Given the description of an element on the screen output the (x, y) to click on. 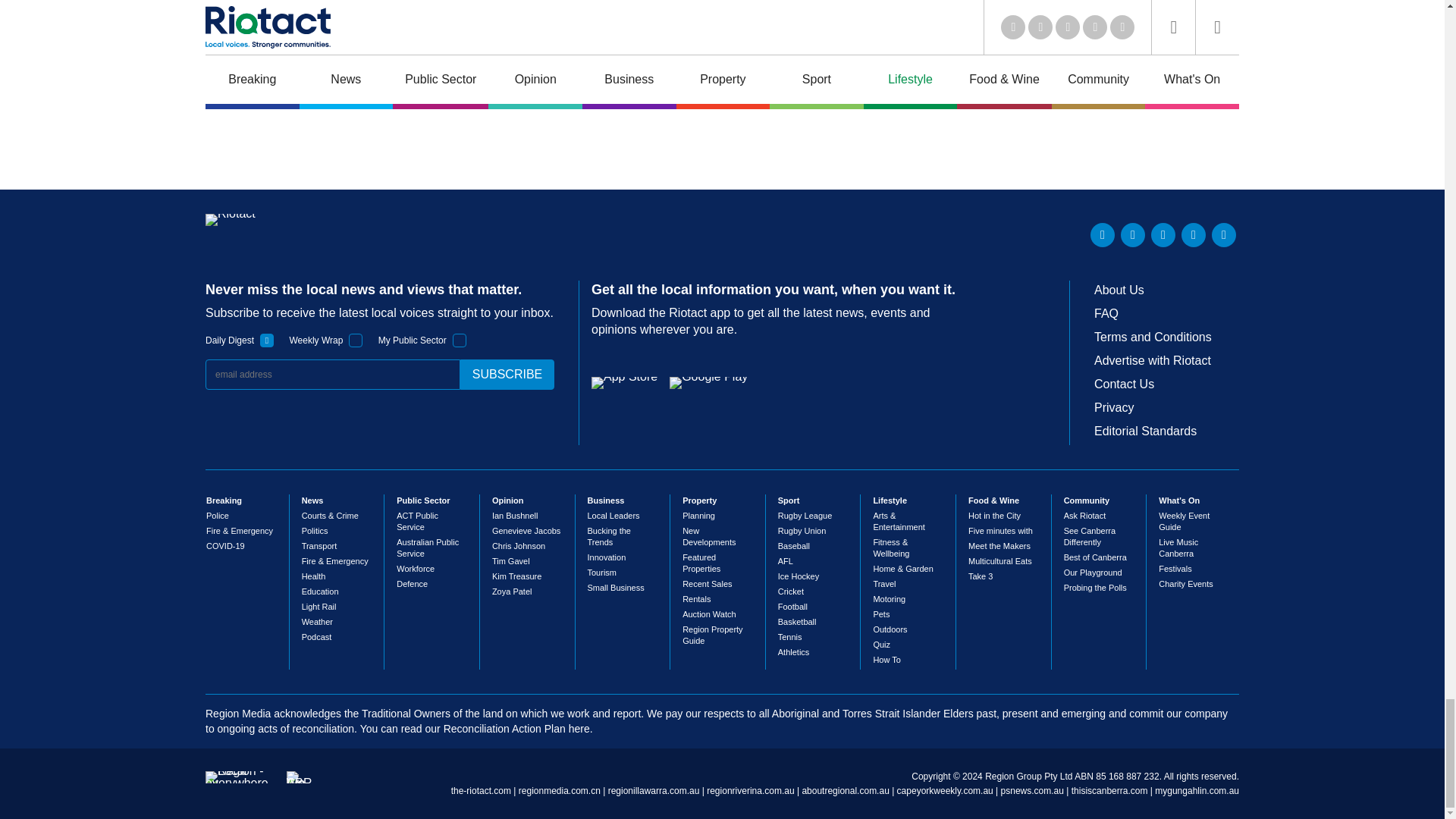
Youtube (1162, 234)
App Store (624, 382)
1 (266, 340)
subscribe (507, 374)
1 (458, 340)
Instagram (1223, 234)
1 (355, 340)
Twitter (1132, 234)
Facebook (1192, 234)
LinkedIn (1102, 234)
